Given the description of an element on the screen output the (x, y) to click on. 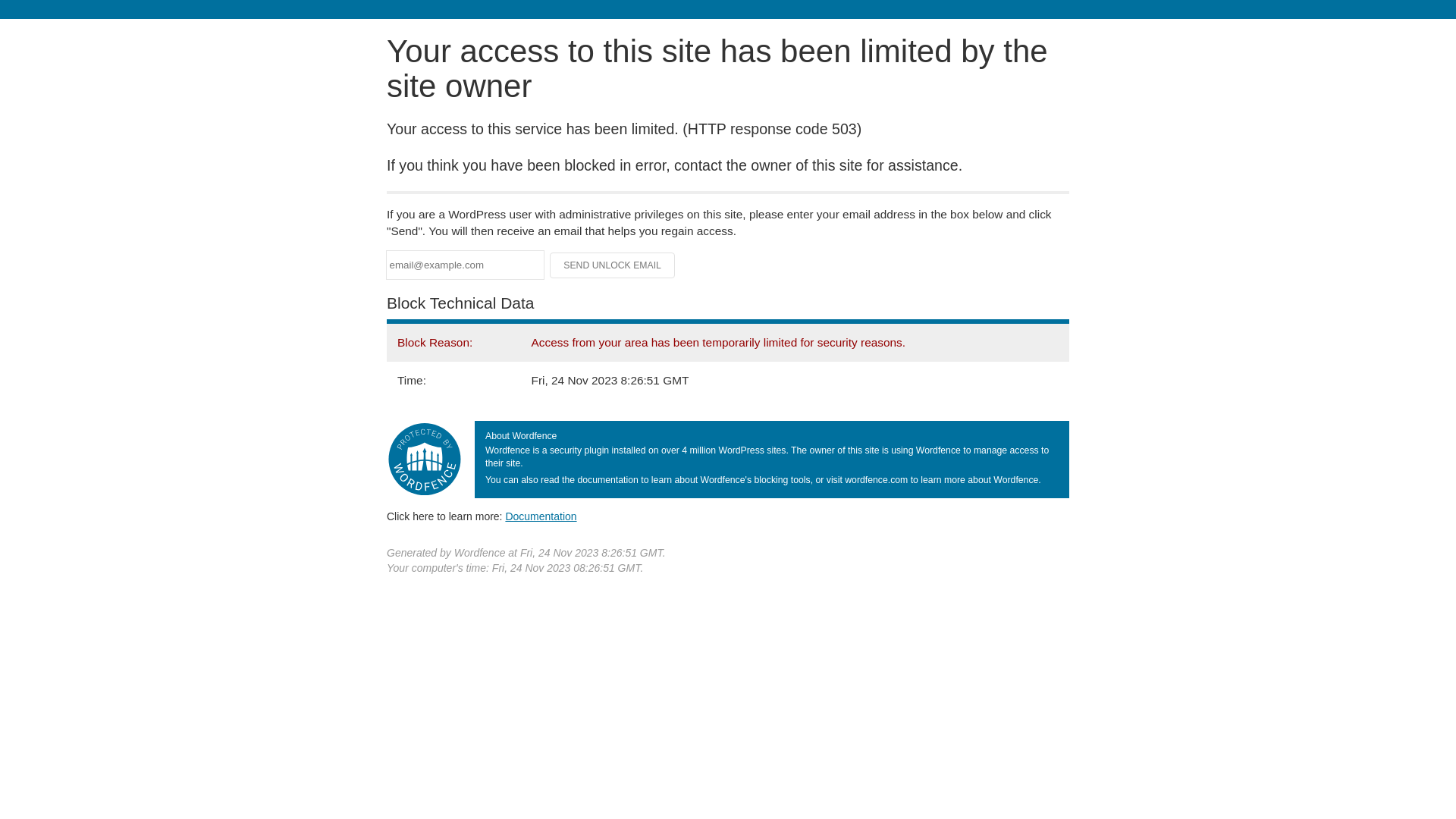
Send Unlock Email Element type: text (612, 265)
Documentation Element type: text (540, 516)
